Given the description of an element on the screen output the (x, y) to click on. 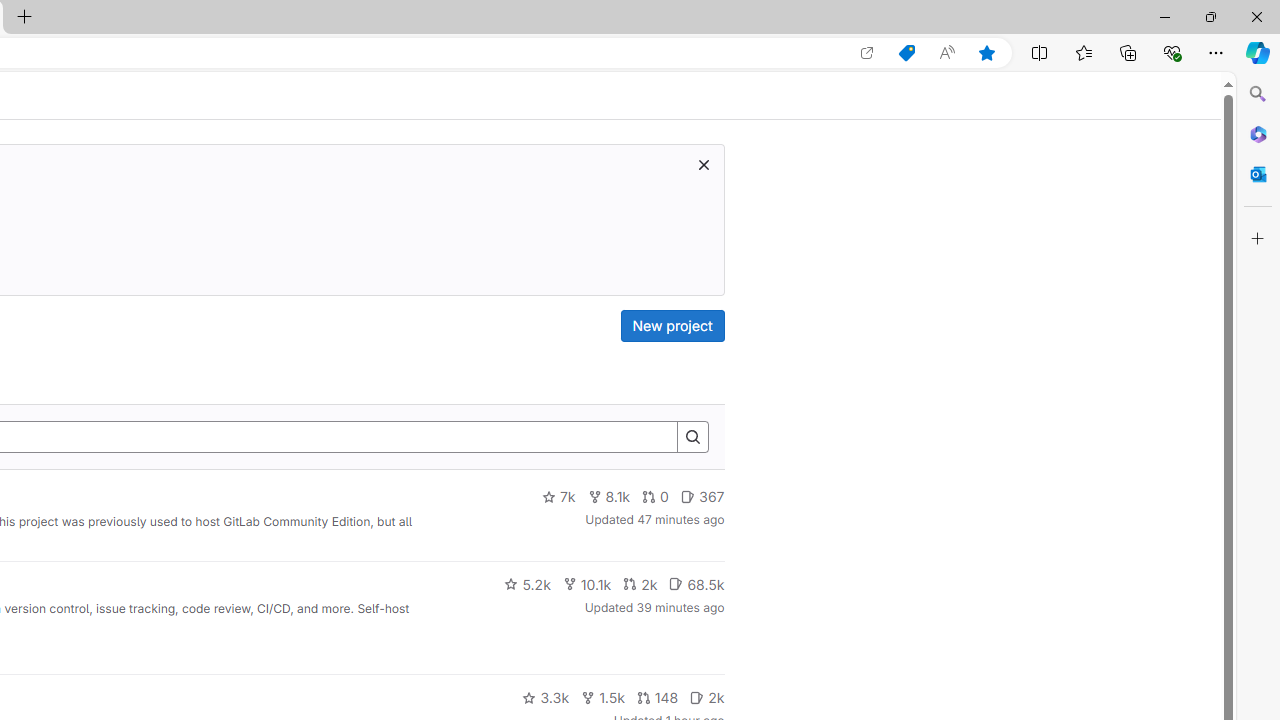
5.2k (527, 583)
3.3k (545, 697)
